Given the description of an element on the screen output the (x, y) to click on. 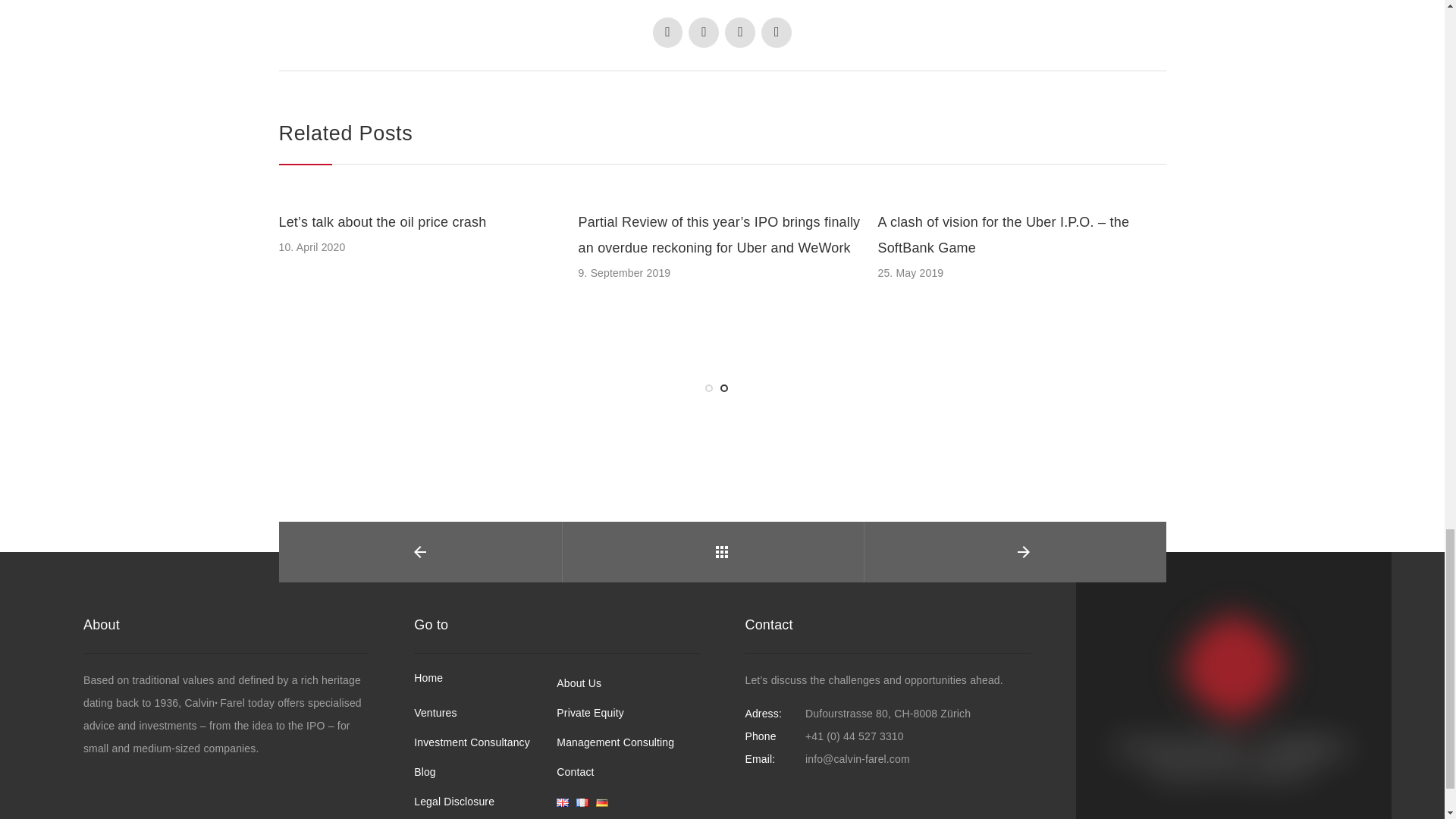
Share on Vk (776, 32)
